Given the description of an element on the screen output the (x, y) to click on. 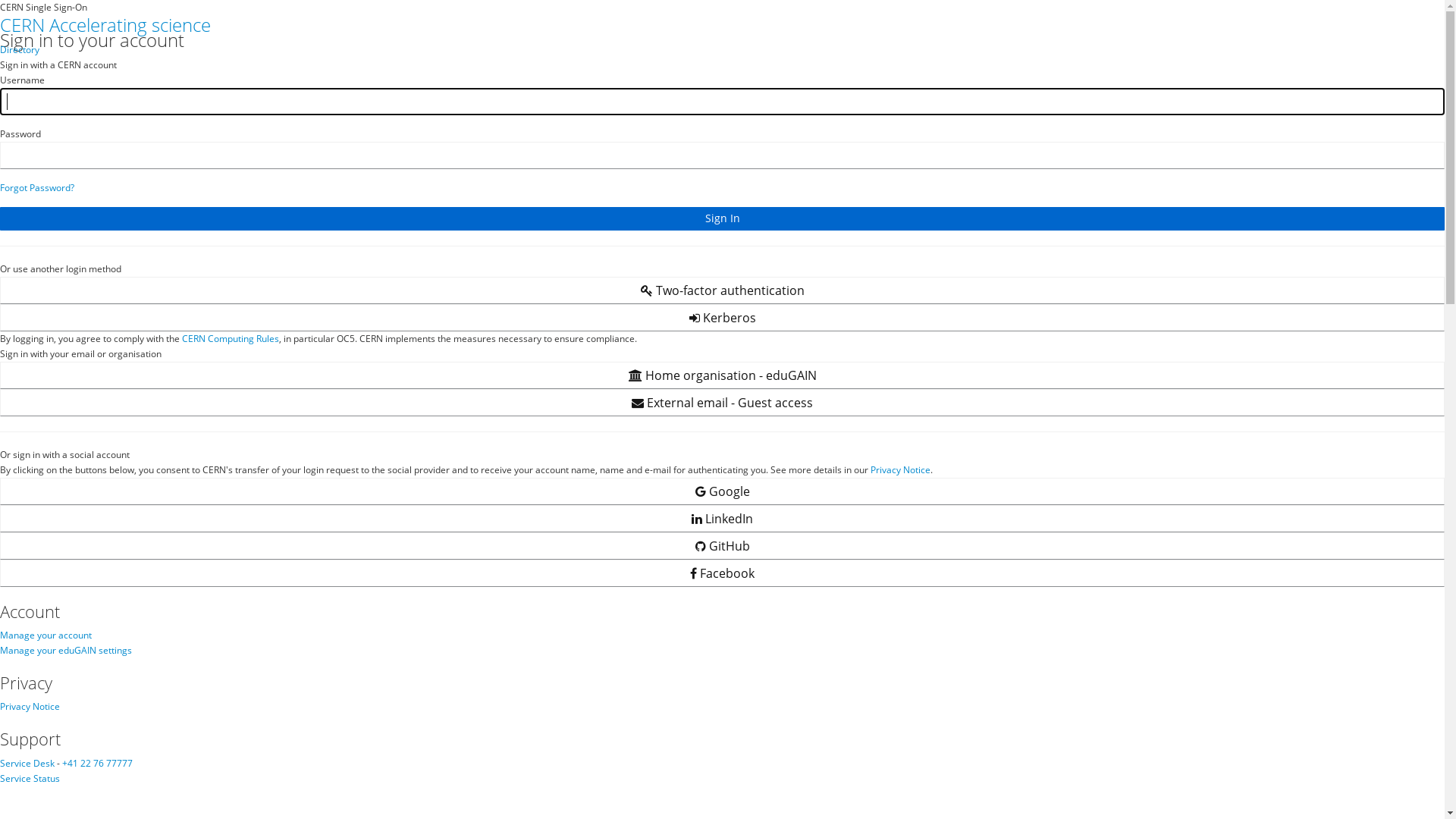
LinkedIn Element type: text (722, 518)
+41 22 76 77777 Element type: text (97, 762)
Manage your account Element type: text (45, 634)
Manage your eduGAIN settings Element type: text (65, 649)
Facebook Element type: text (722, 572)
Privacy Notice Element type: text (900, 469)
Two-factor authentication Element type: text (722, 290)
Home organisation - eduGAIN Element type: text (722, 375)
CERN Computing Rules Element type: text (230, 338)
Sign In Element type: text (722, 218)
Forgot Password? Element type: text (37, 187)
External email - Guest access Element type: text (722, 402)
Google Element type: text (722, 491)
Kerberos Element type: text (722, 317)
Service Status Element type: text (29, 777)
Service Desk Element type: text (27, 762)
Directory Element type: text (19, 49)
GitHub Element type: text (722, 545)
Privacy Notice Element type: text (29, 705)
CERN Accelerating science Element type: text (105, 24)
